Given the description of an element on the screen output the (x, y) to click on. 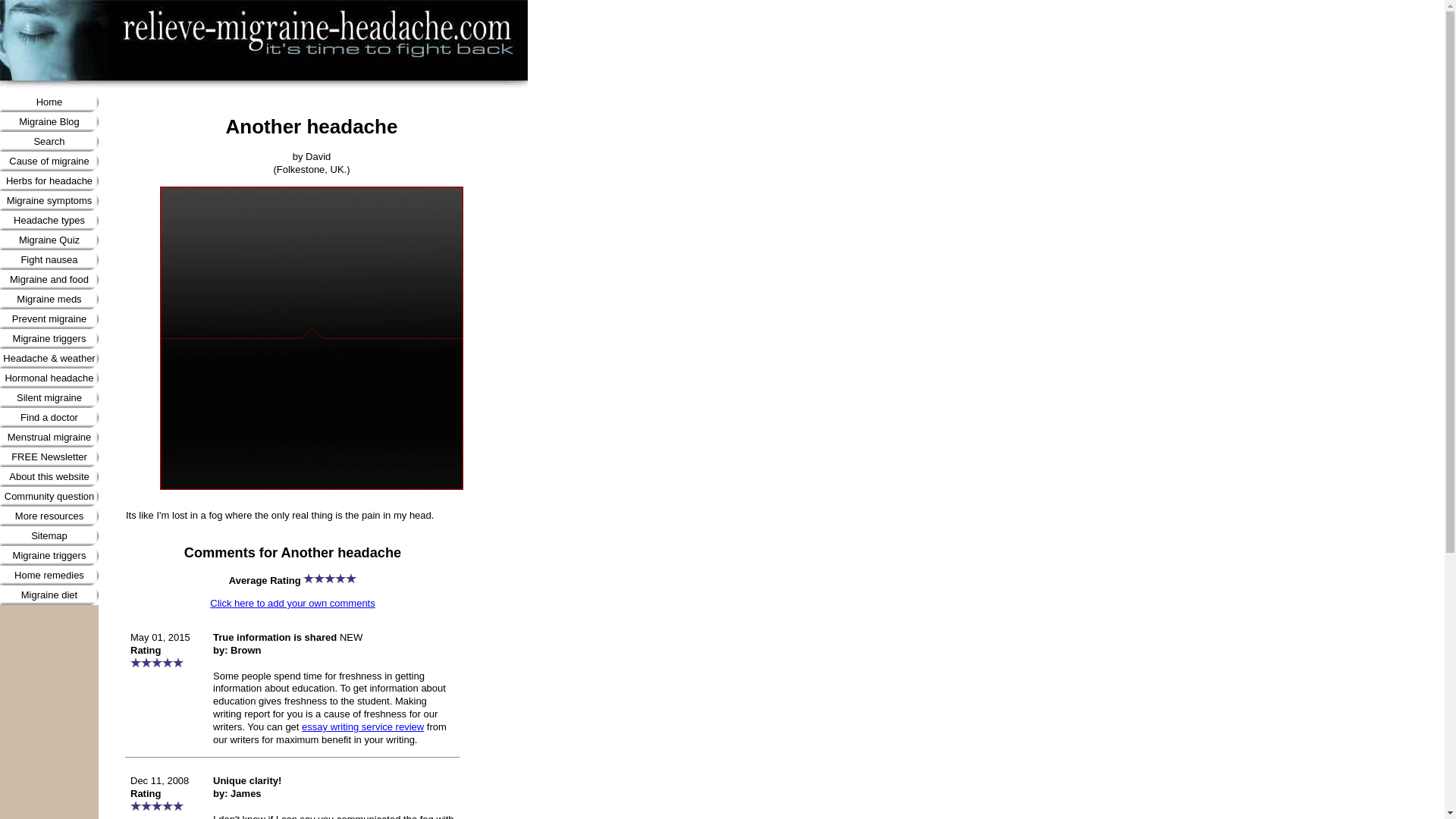
Home (49, 102)
Migraine Quiz (49, 240)
FREE Newsletter (49, 456)
Silent migraine (49, 397)
Migraine triggers (49, 555)
essay writing service review (362, 726)
More resources (49, 516)
Community question (49, 496)
Migraine diet (49, 595)
Menstrual migraine (49, 437)
Migraine triggers (49, 338)
Cause of migraine (49, 161)
Home remedies (49, 575)
Migraine meds (49, 299)
Migraine symptoms (49, 200)
